Given the description of an element on the screen output the (x, y) to click on. 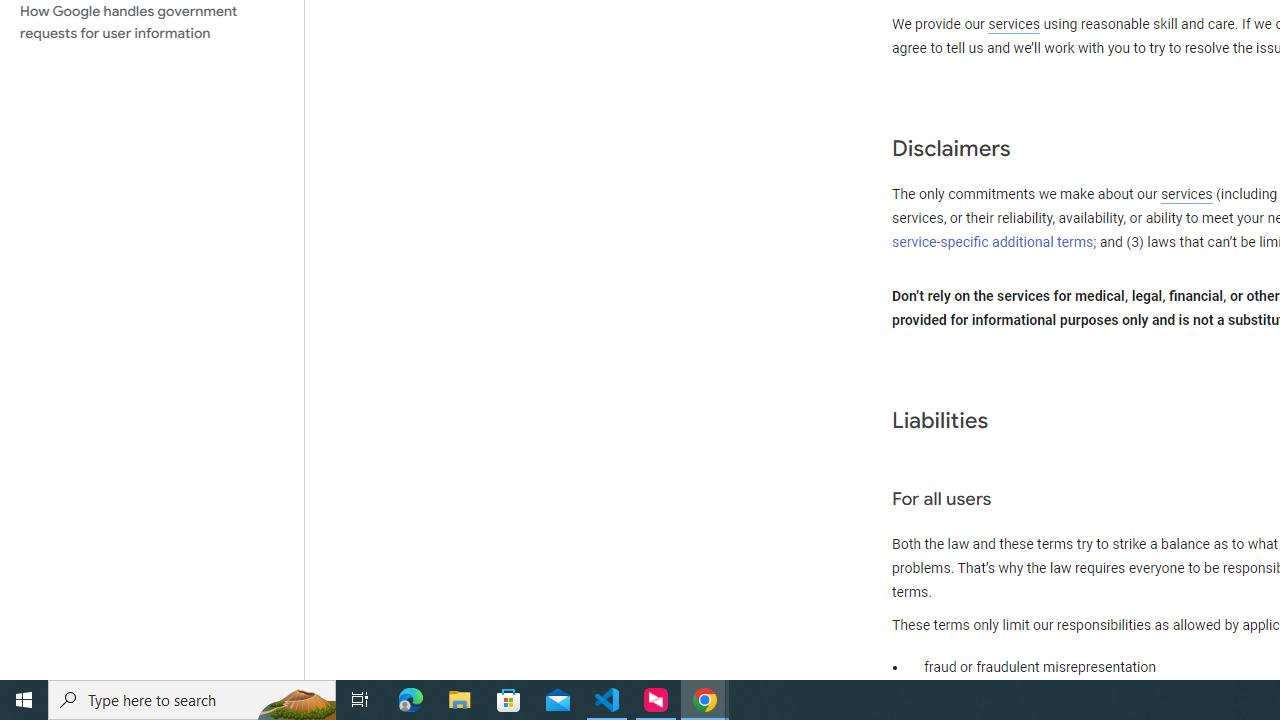
service-specific additional terms (993, 242)
services (1186, 195)
